Given the description of an element on the screen output the (x, y) to click on. 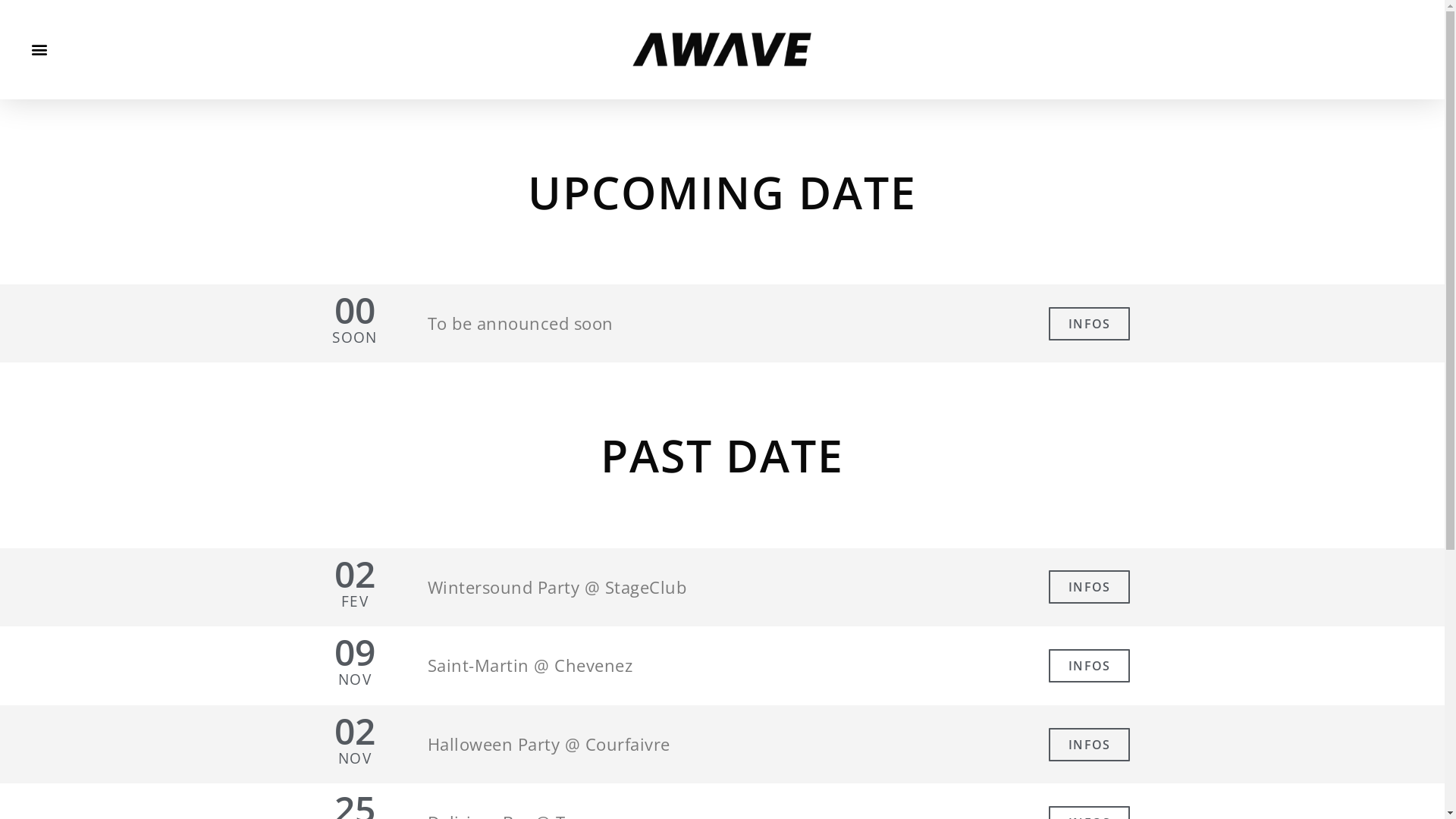
INFOS Element type: text (1088, 665)
INFOS Element type: text (1088, 744)
INFOS Element type: text (1088, 586)
INFOS Element type: text (1088, 323)
